Given the description of an element on the screen output the (x, y) to click on. 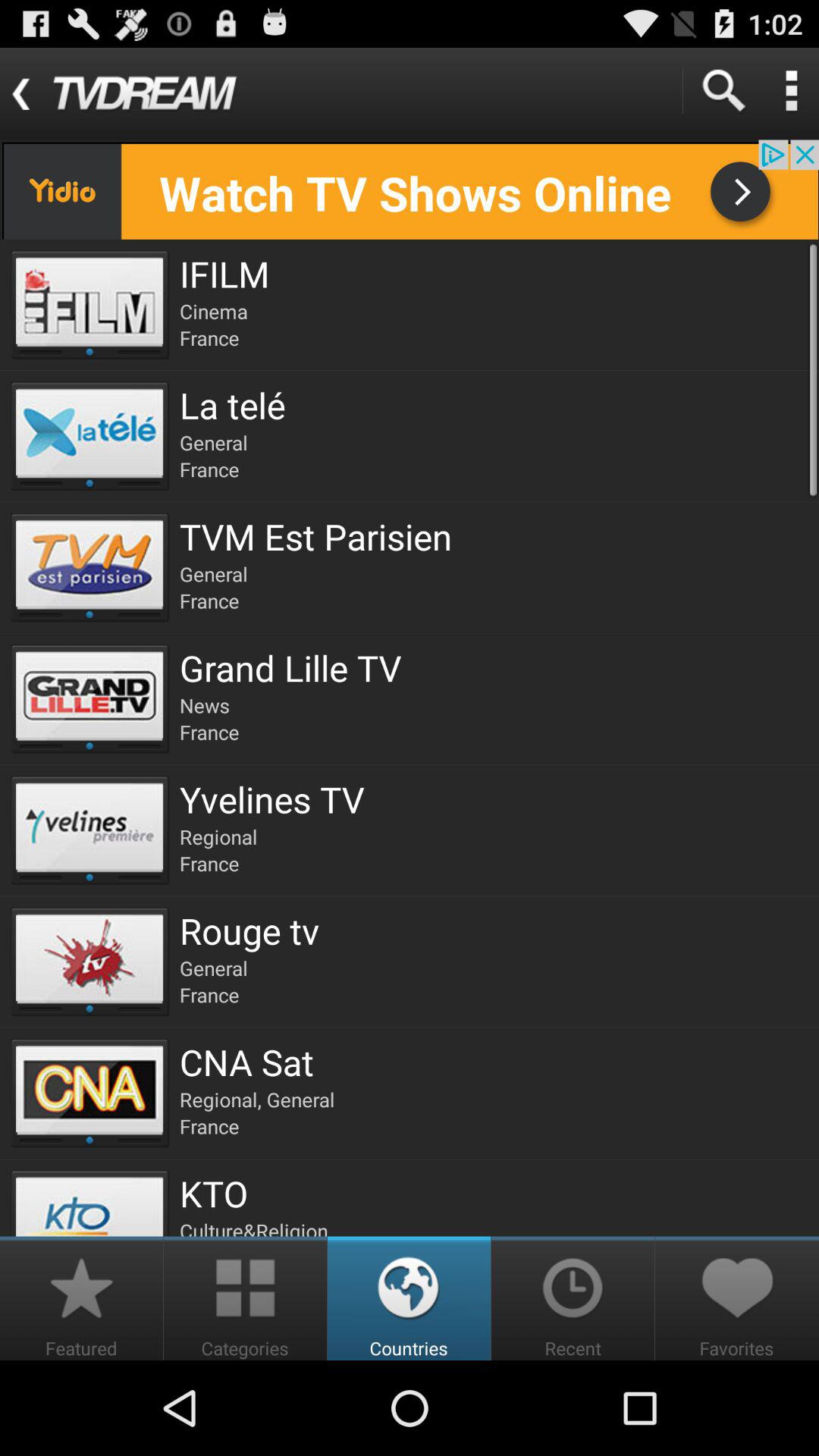
search app (723, 90)
